Given the description of an element on the screen output the (x, y) to click on. 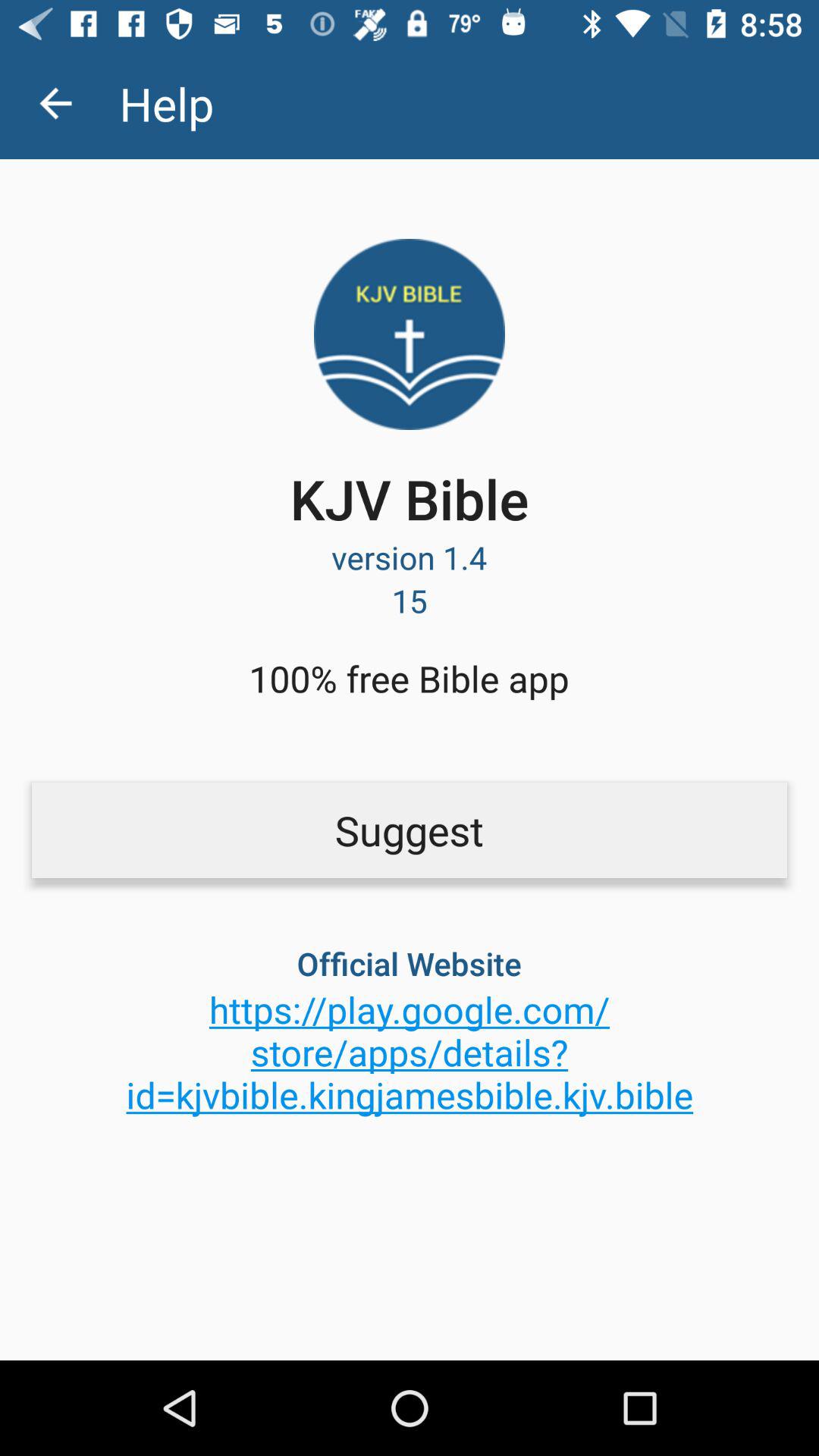
press icon above suggest icon (55, 103)
